Given the description of an element on the screen output the (x, y) to click on. 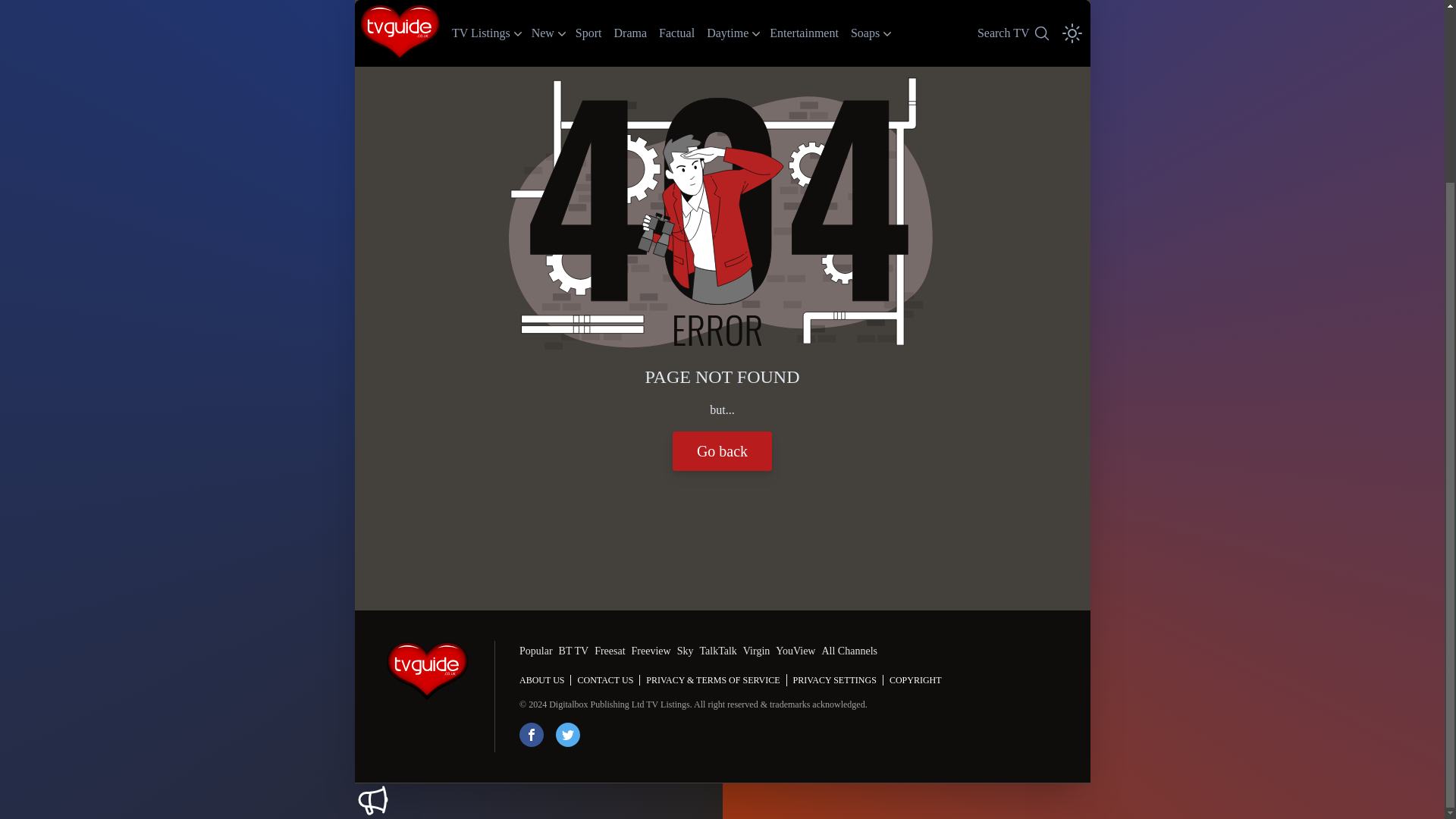
Open Theme Dropdown (1071, 4)
Entertainment (803, 4)
Drama (630, 4)
Factual (676, 4)
Search TV Guide (1012, 4)
TV Listings (1012, 4)
Soaps (480, 6)
TVGuide.co.uk on Twitter (864, 6)
Sport (567, 734)
TVGuide.co.uk on Facebook (588, 4)
Daytime (531, 734)
New (727, 6)
